Given the description of an element on the screen output the (x, y) to click on. 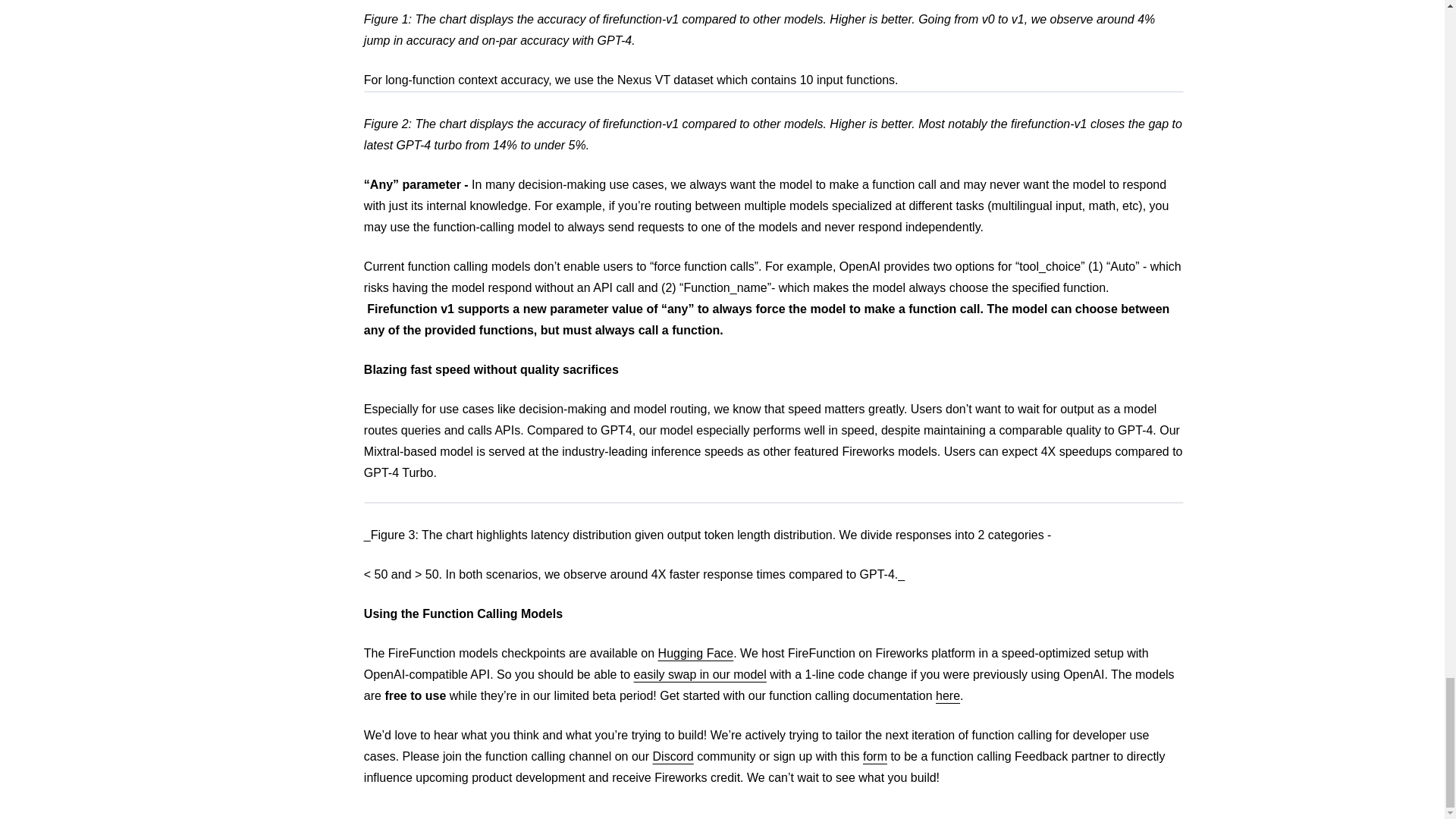
Discord (673, 756)
easily swap in our model (700, 674)
form (874, 756)
Hugging Face (695, 653)
here (947, 695)
